Given the description of an element on the screen output the (x, y) to click on. 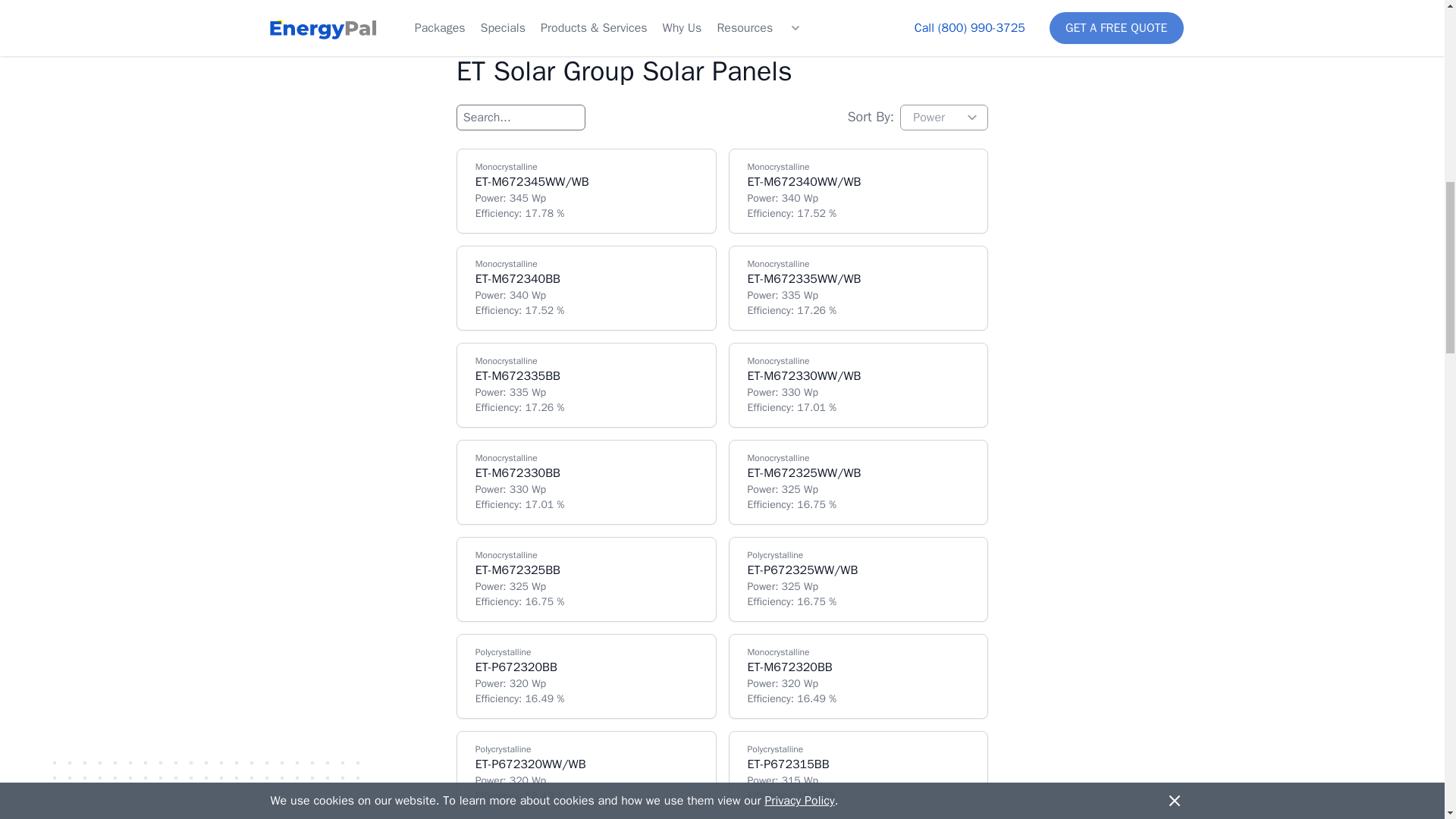
BEST SOLAR PANELS (721, 5)
